Given the description of an element on the screen output the (x, y) to click on. 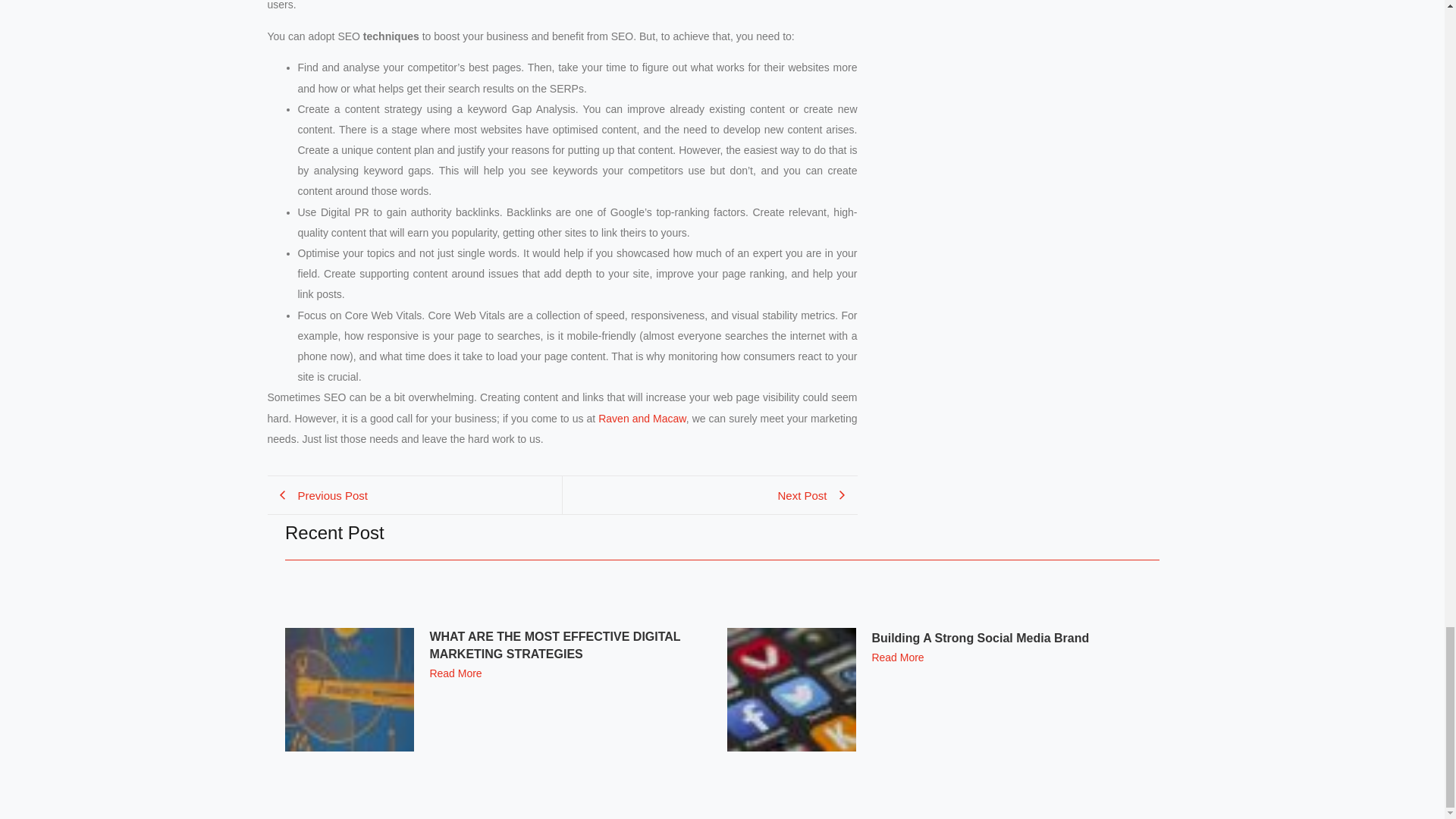
Recent Post (561, 495)
